Given the description of an element on the screen output the (x, y) to click on. 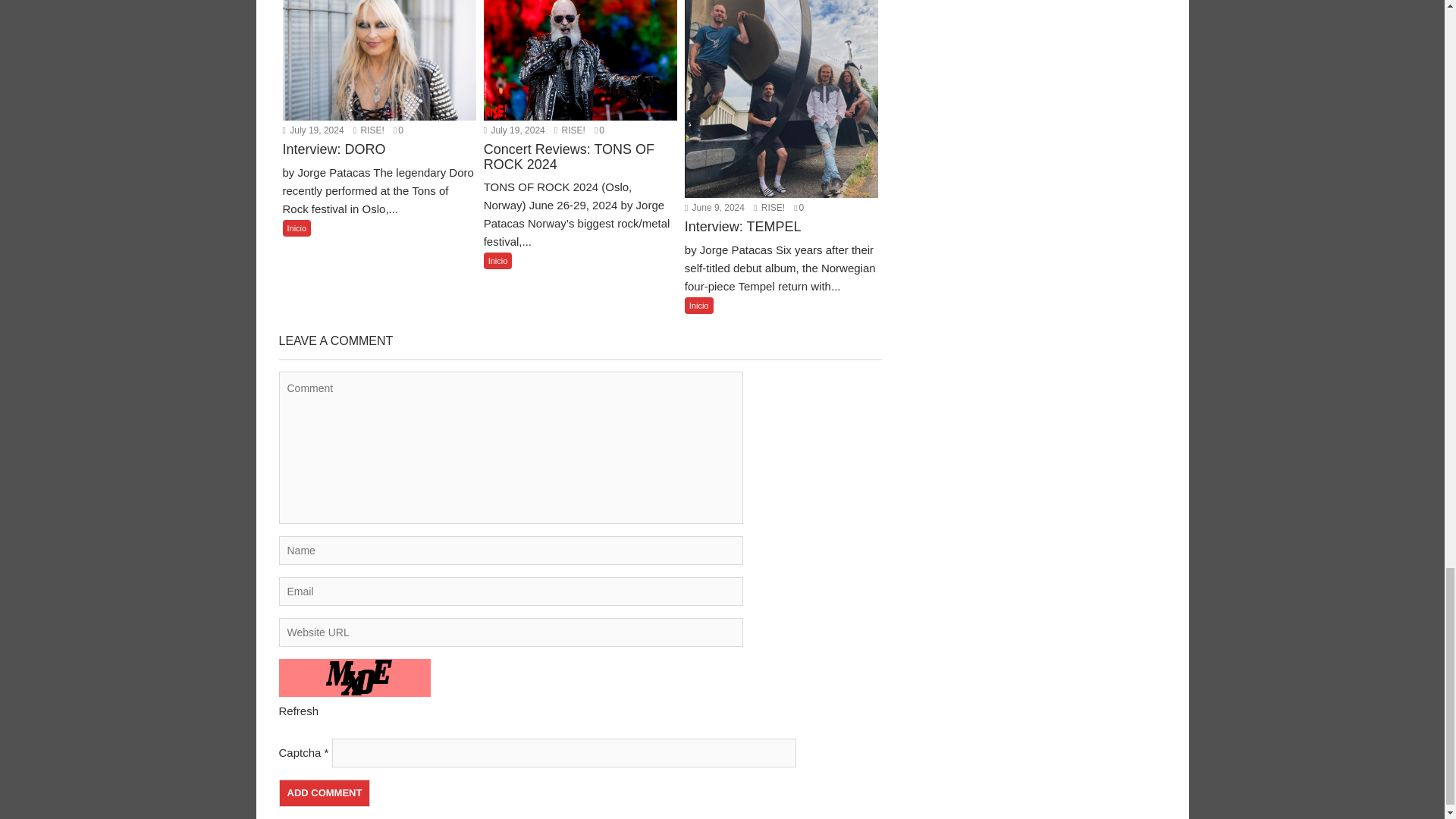
RISE! (569, 130)
RISE! (368, 130)
Click to refresh Captcha Image (298, 710)
Click to refresh Captcha Image (354, 677)
RISE! (769, 207)
Add Comment (325, 792)
